Given the description of an element on the screen output the (x, y) to click on. 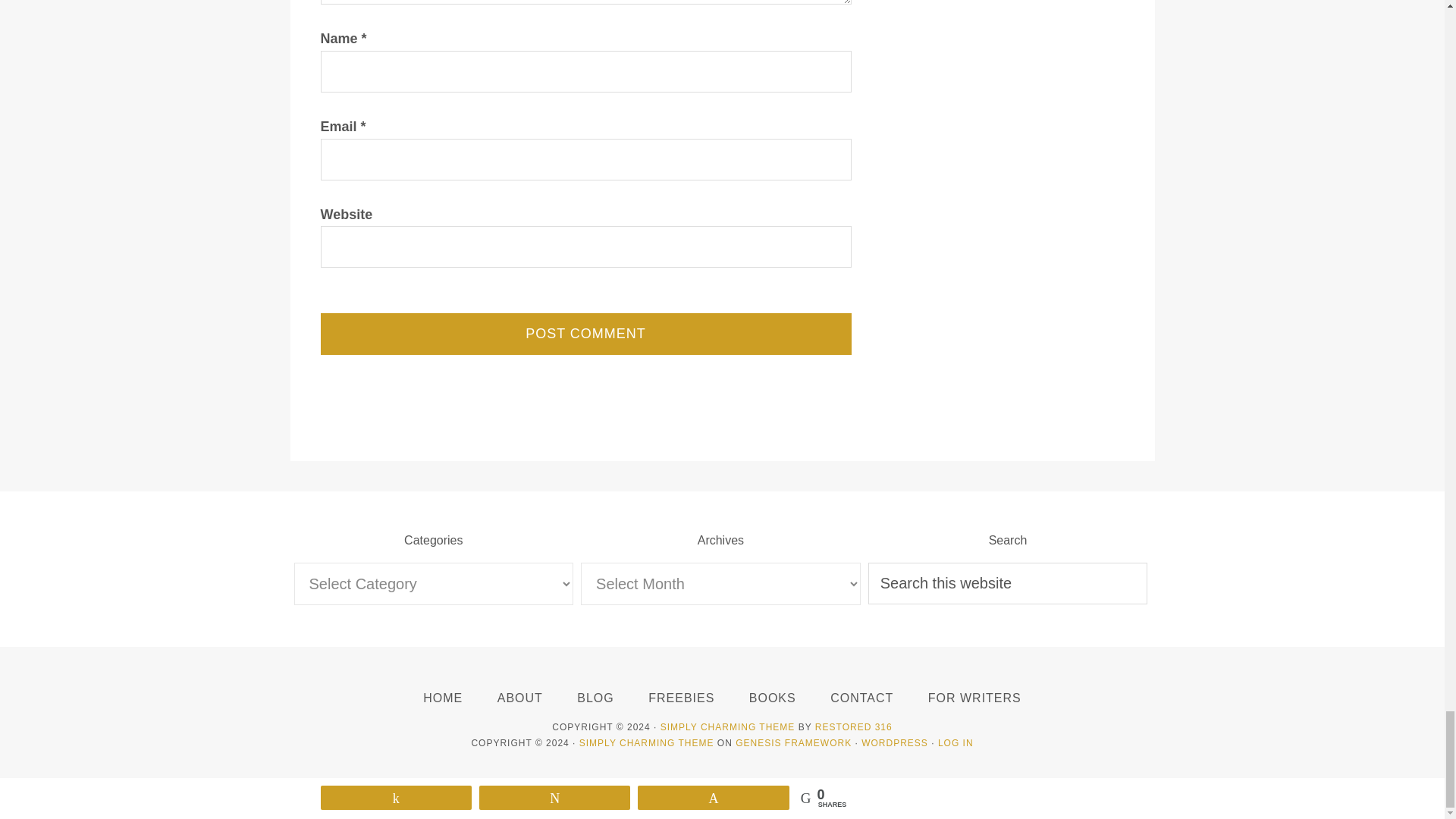
Post Comment (585, 333)
